Given the description of an element on the screen output the (x, y) to click on. 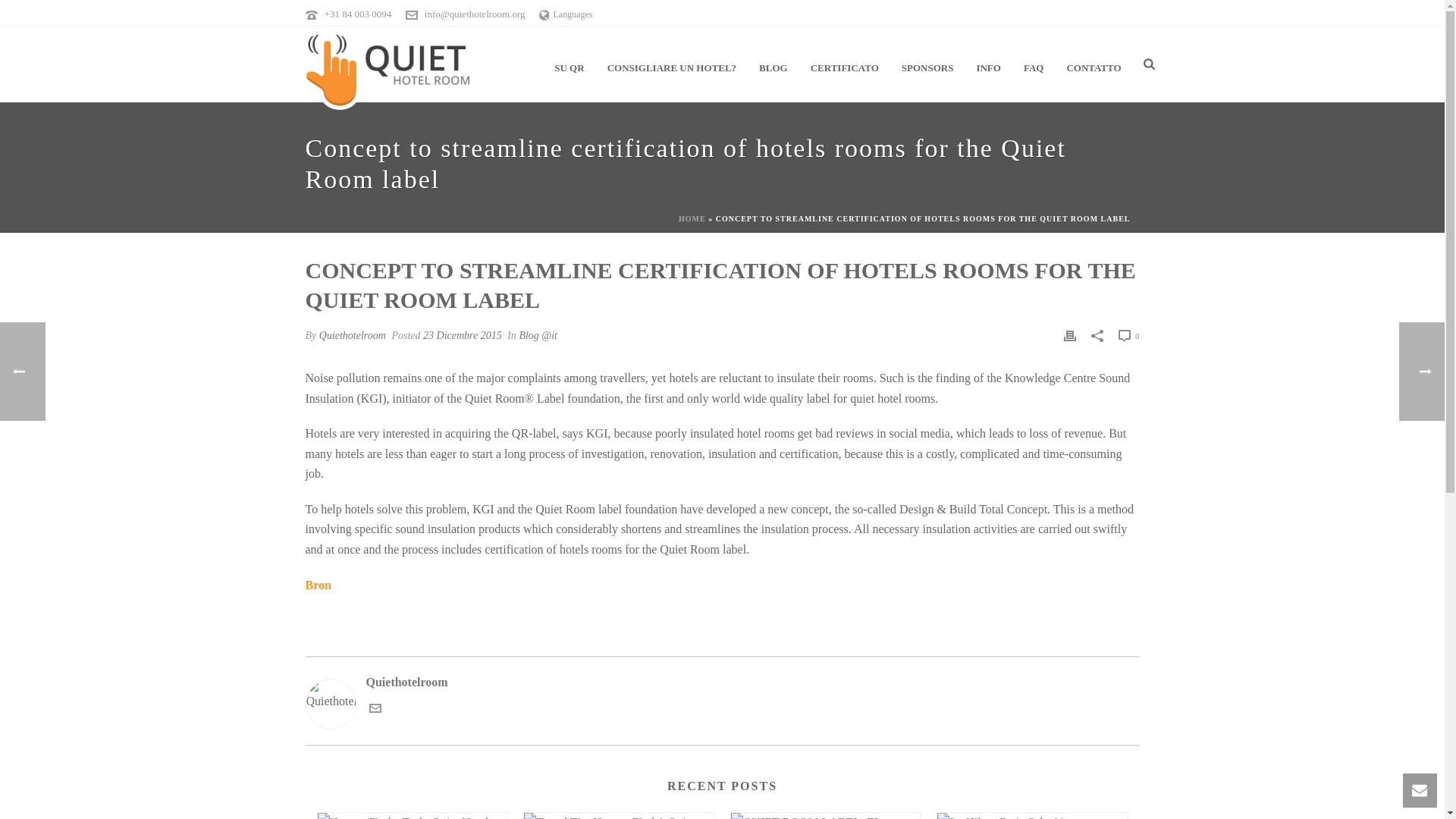
HOME (692, 218)
Languages (565, 14)
CONSIGLIARE UN HOTEL? (671, 64)
CONSIGLIARE UN HOTEL? (671, 64)
Articoli scritti da Quiethotelroom (351, 335)
How to Find a Truly Quiet Hotel Room (411, 816)
Get in touch with me via email (374, 709)
23 Dicembre 2015 (462, 335)
CERTIFICATO (844, 64)
